Given the description of an element on the screen output the (x, y) to click on. 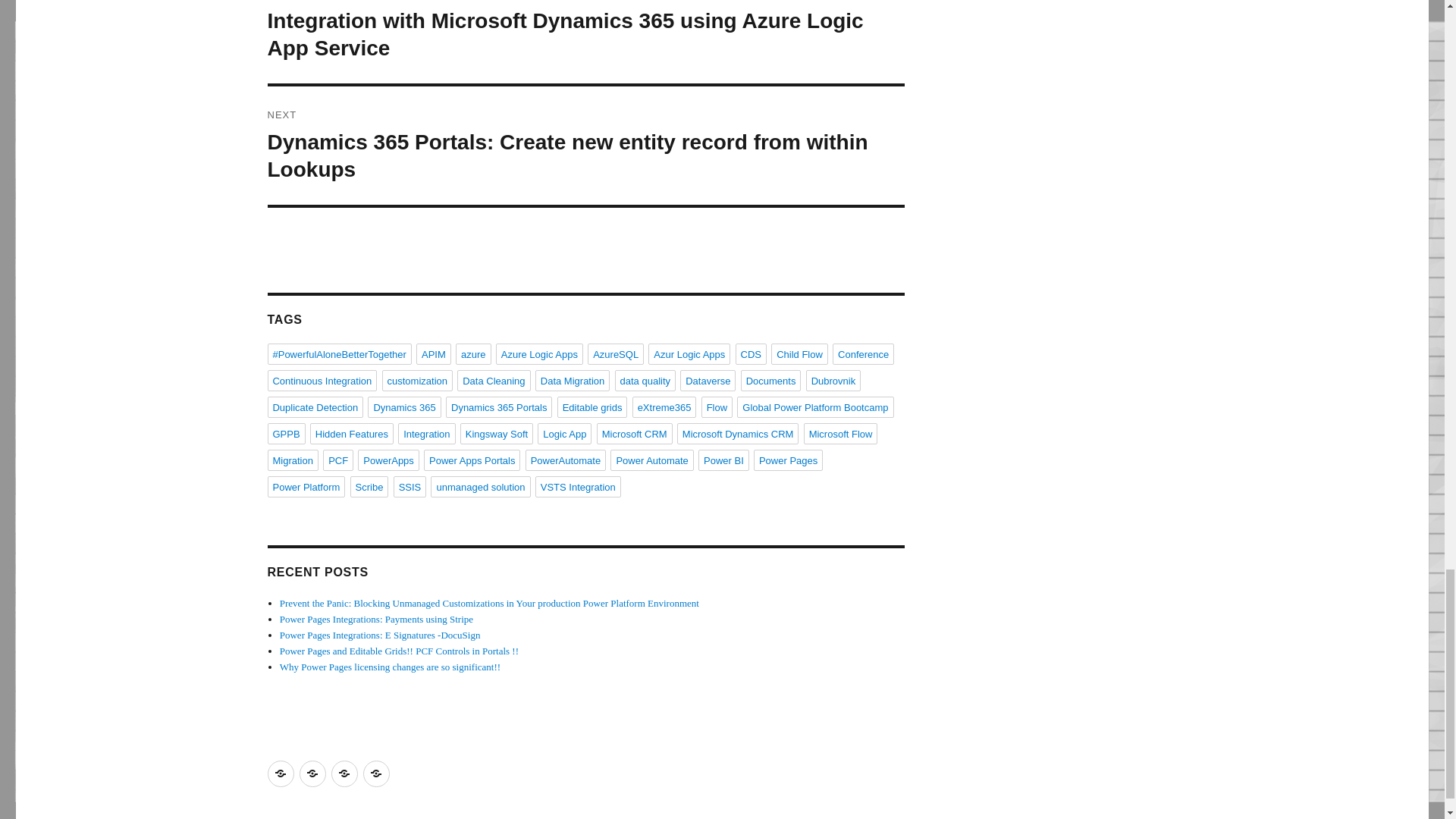
Azur Logic Apps (688, 353)
customization (416, 380)
azure (473, 353)
APIM (433, 353)
Child Flow (799, 353)
CDS (751, 353)
Continuous Integration (321, 380)
AzureSQL (615, 353)
